Given the description of an element on the screen output the (x, y) to click on. 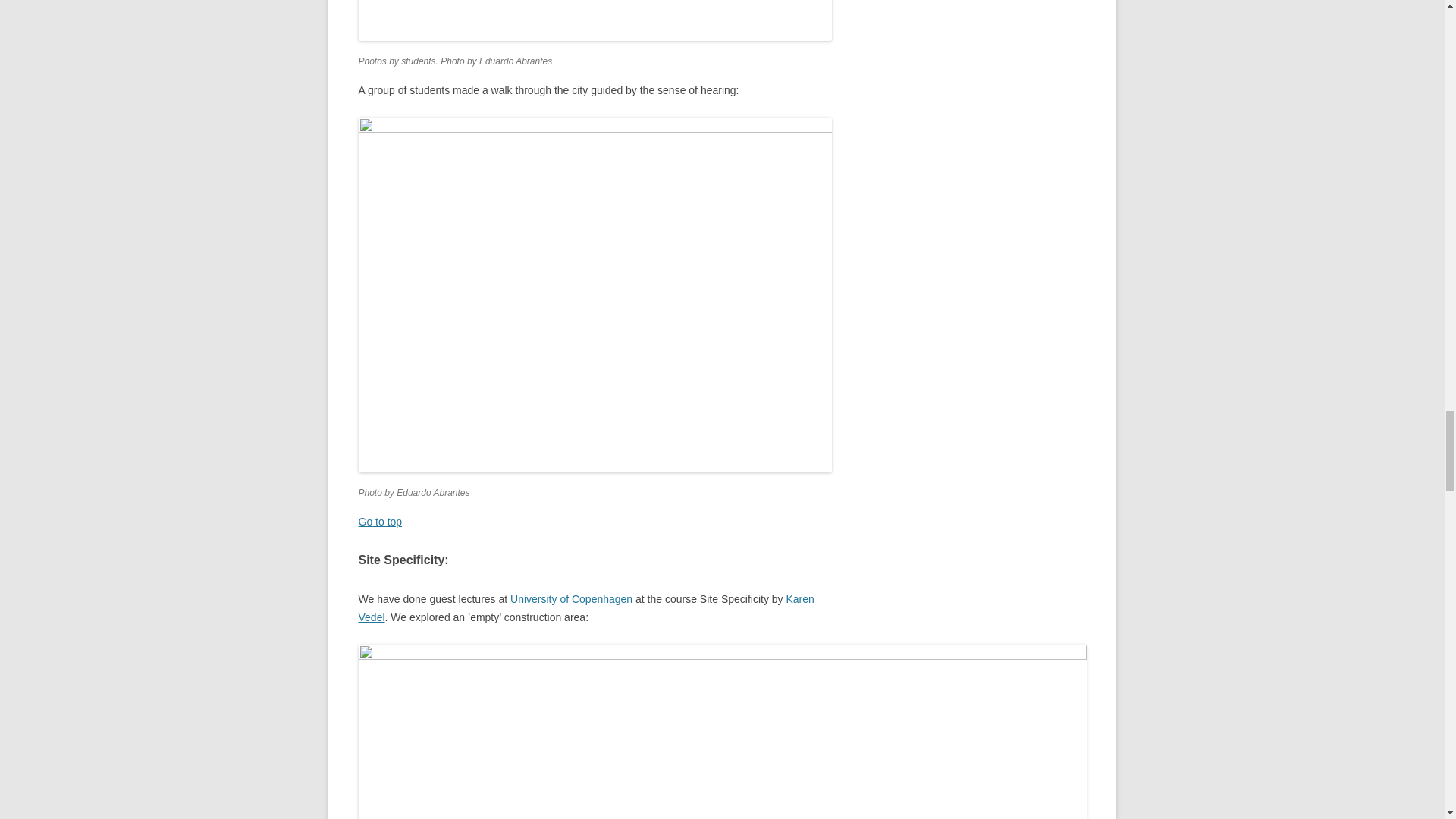
Go to top (379, 521)
Karen Vedel (585, 607)
University of Copenhagen (571, 598)
